Given the description of an element on the screen output the (x, y) to click on. 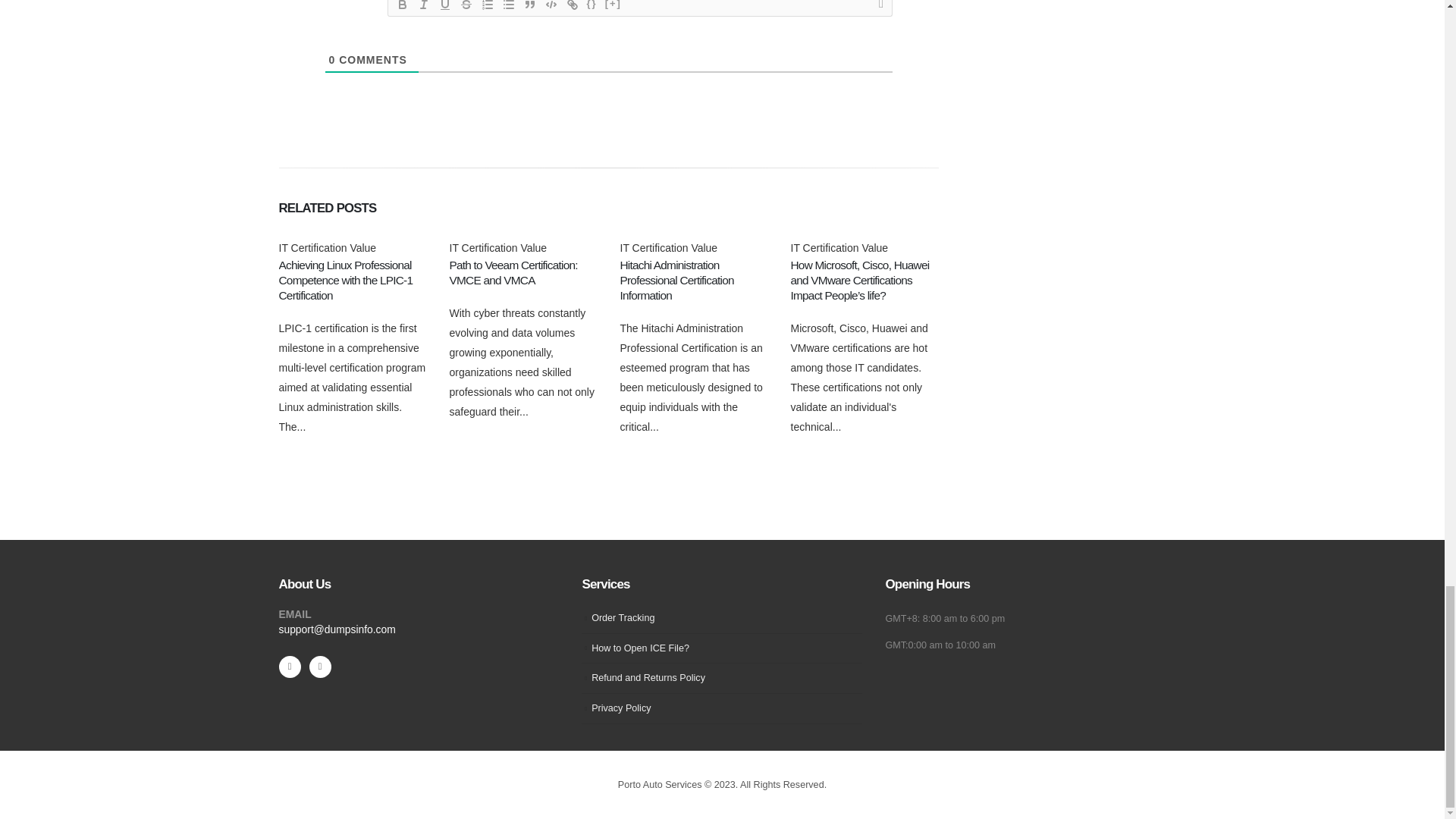
Unordered List (507, 6)
Bold (401, 6)
Ordered List (486, 6)
Blockquote (529, 6)
Strike (465, 6)
Italic (422, 6)
Underline (443, 6)
